Given the description of an element on the screen output the (x, y) to click on. 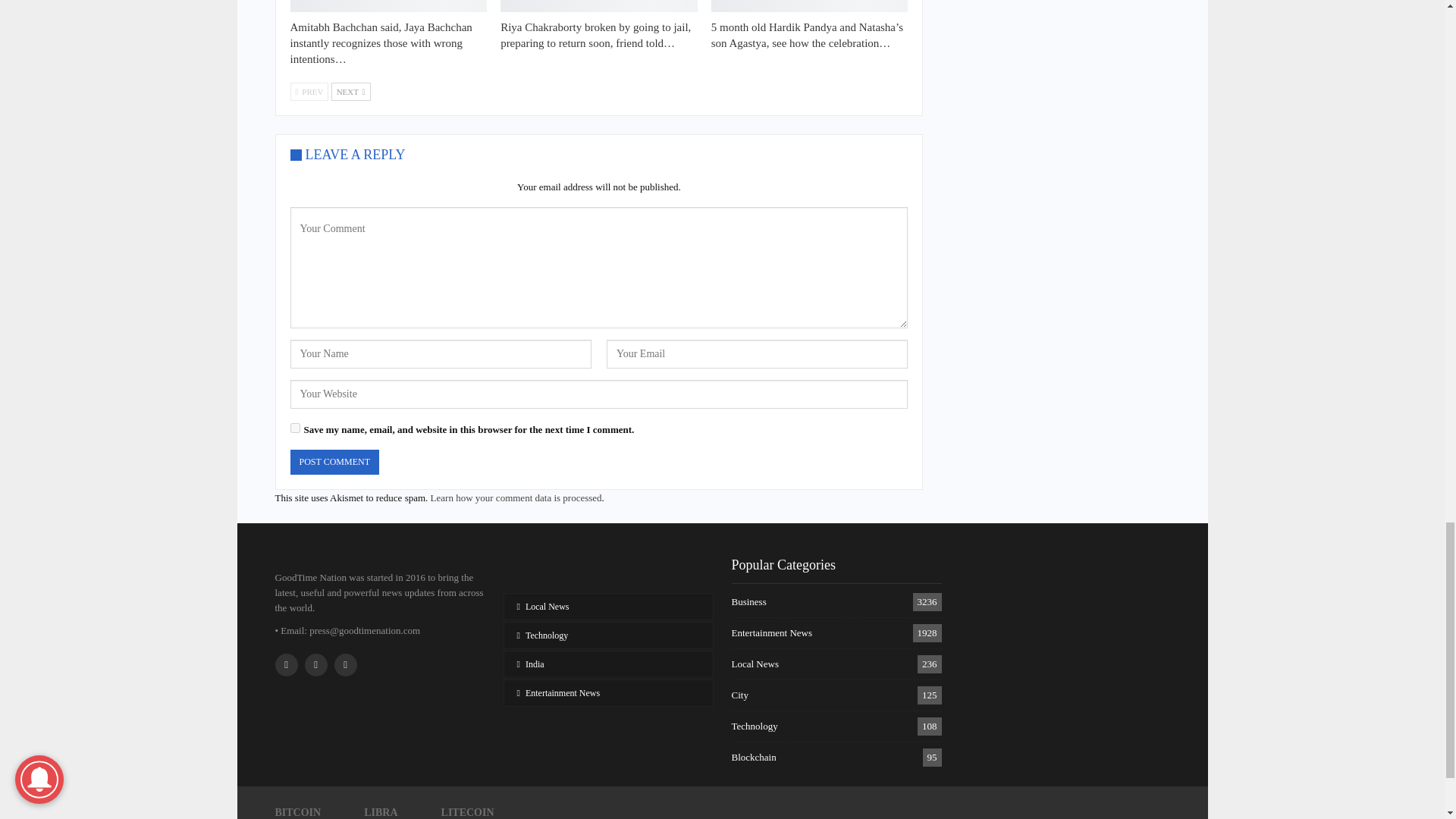
yes (294, 428)
Post Comment (333, 462)
Previous (309, 91)
